Given the description of an element on the screen output the (x, y) to click on. 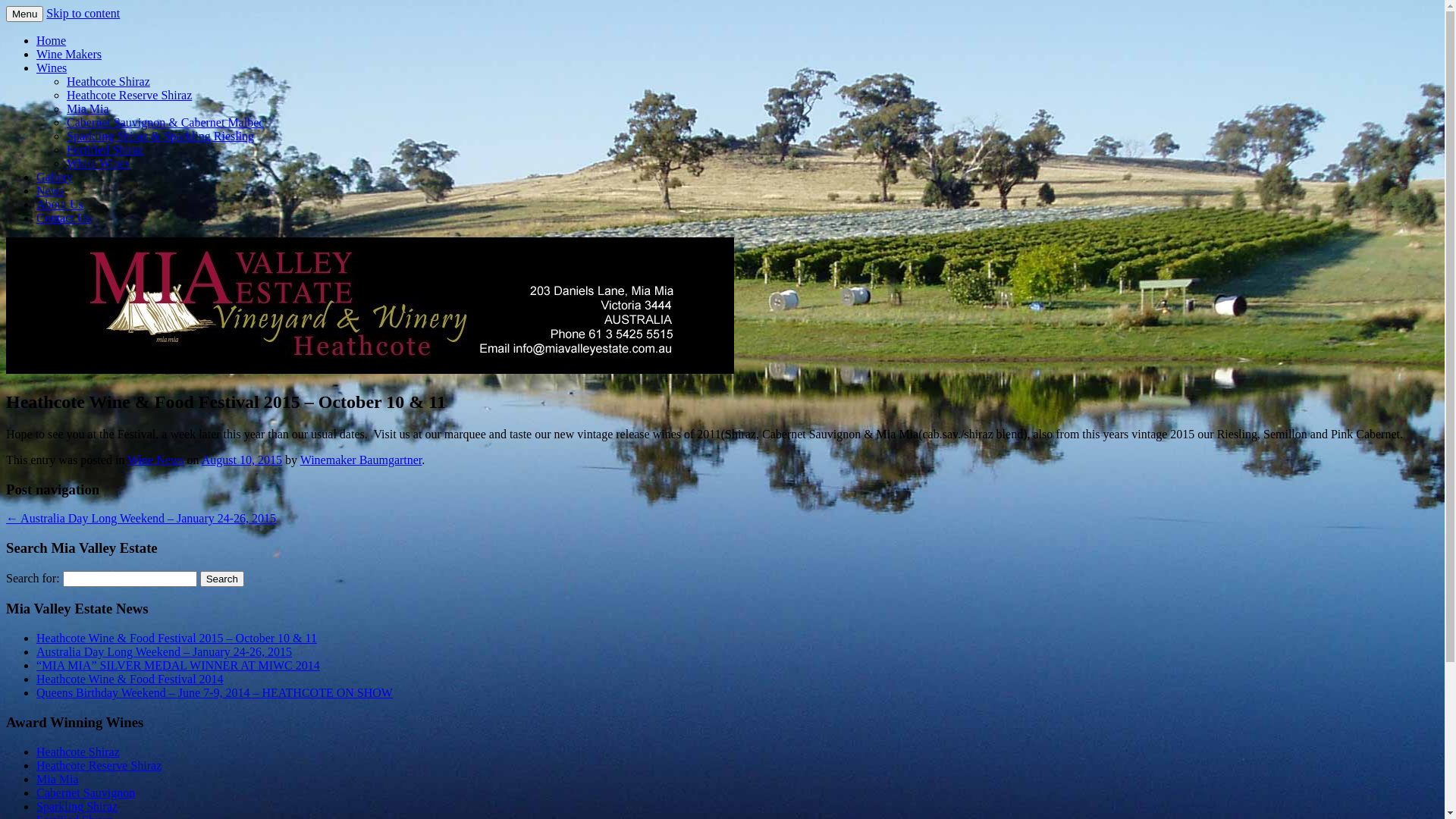
Search Element type: text (222, 578)
Heathcote Reserve Shiraz Element type: text (98, 765)
Sparkling Shiraz Element type: text (76, 806)
Cabernet Sauvignon & Cabernet Malbec Element type: text (164, 122)
Heathcote Reserve Shiraz Element type: text (128, 94)
Cabernet Sauvignon Element type: text (85, 792)
White Wines Element type: text (97, 162)
Wines Element type: text (51, 67)
Heathcote Wine & Food Festival 2014 Element type: text (129, 678)
Wine Makers Element type: text (68, 53)
Wine News Element type: text (155, 459)
Winemaker Baumgartner Element type: text (361, 459)
Gallery Element type: text (54, 176)
About Us Element type: text (59, 203)
Menu Element type: text (24, 13)
News Element type: text (49, 190)
Home Element type: text (50, 40)
Heathcote Shiraz Element type: text (108, 81)
Skip to content Element type: text (82, 12)
Mia Valley Estate Element type: text (97, 35)
Sparkling Shiraz & Sparkling Riesling Element type: text (160, 135)
August 10, 2015 Element type: text (241, 459)
Mia Mia Element type: text (57, 778)
Heathcote Shiraz Element type: text (77, 751)
Contact Us Element type: text (63, 217)
Mia Mia Element type: text (87, 108)
Fortified Shiraz Element type: text (104, 149)
